Given the description of an element on the screen output the (x, y) to click on. 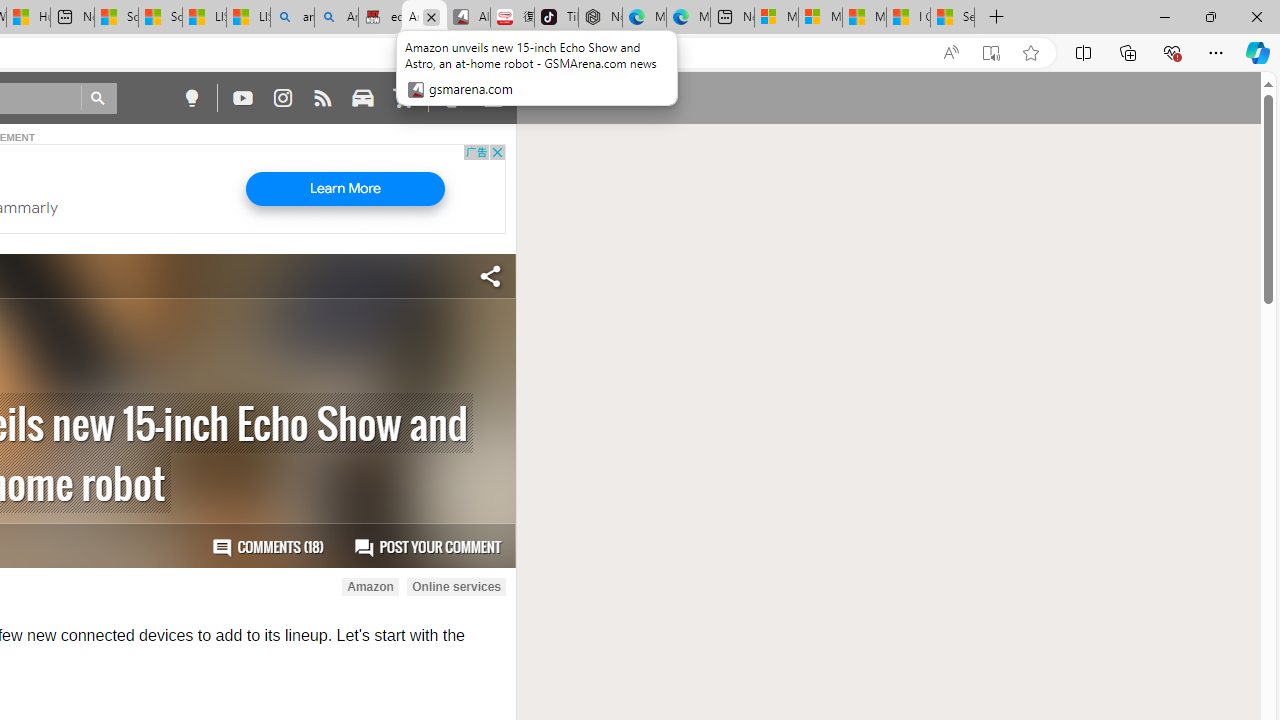
Enter Immersive Reader (F9) (991, 53)
Online services (456, 587)
